Given the description of an element on the screen output the (x, y) to click on. 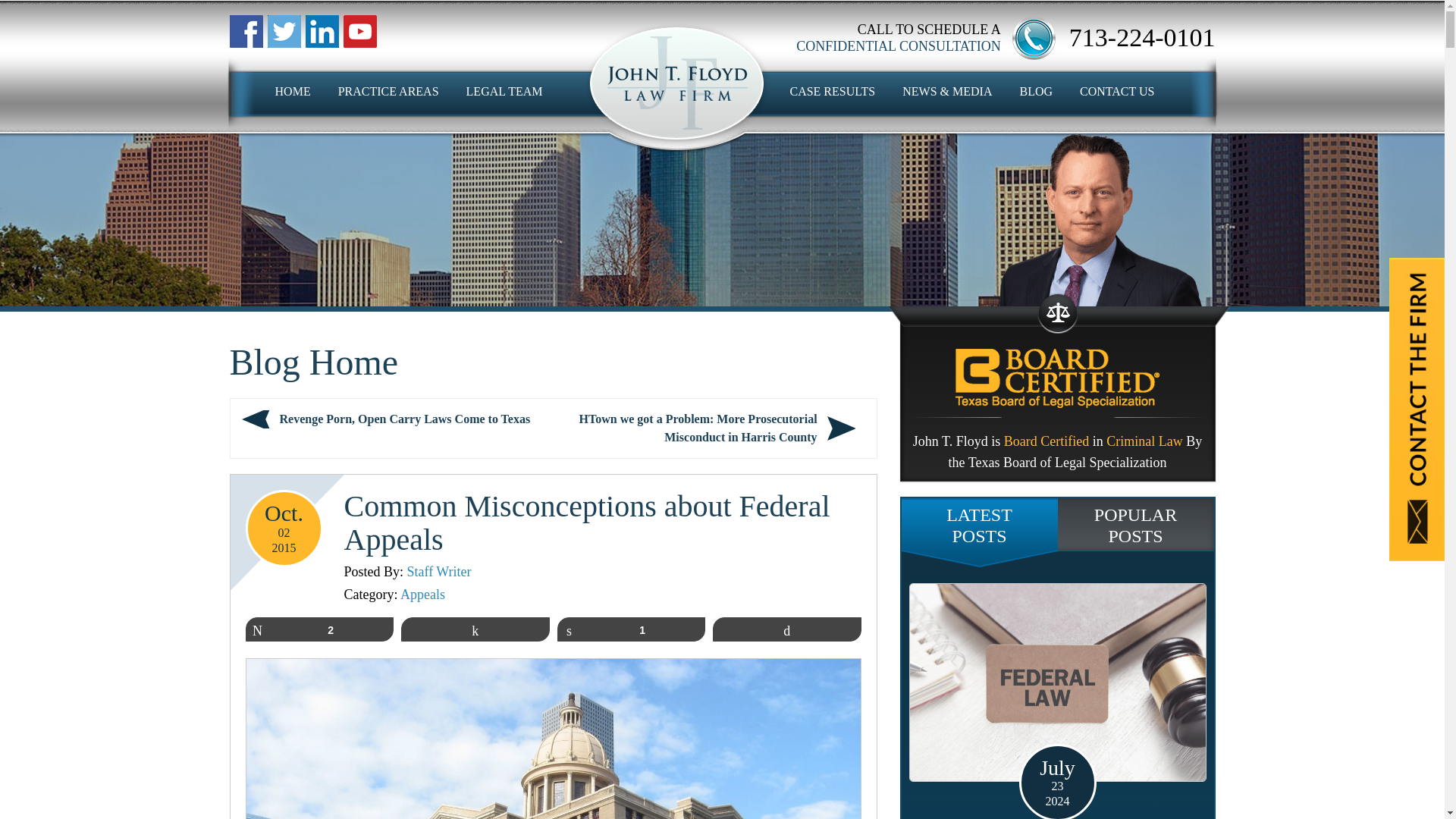
Facebook (358, 31)
Posts by Staff Writer (439, 571)
LEGAL TEAM (504, 91)
Facebook (282, 31)
PRACTICE AREAS (388, 91)
CASE RESULTS (831, 91)
HOME (293, 91)
Facebook (245, 31)
Facebook (320, 31)
CONTACT US (1117, 91)
713-224-0101 (1141, 37)
